Given the description of an element on the screen output the (x, y) to click on. 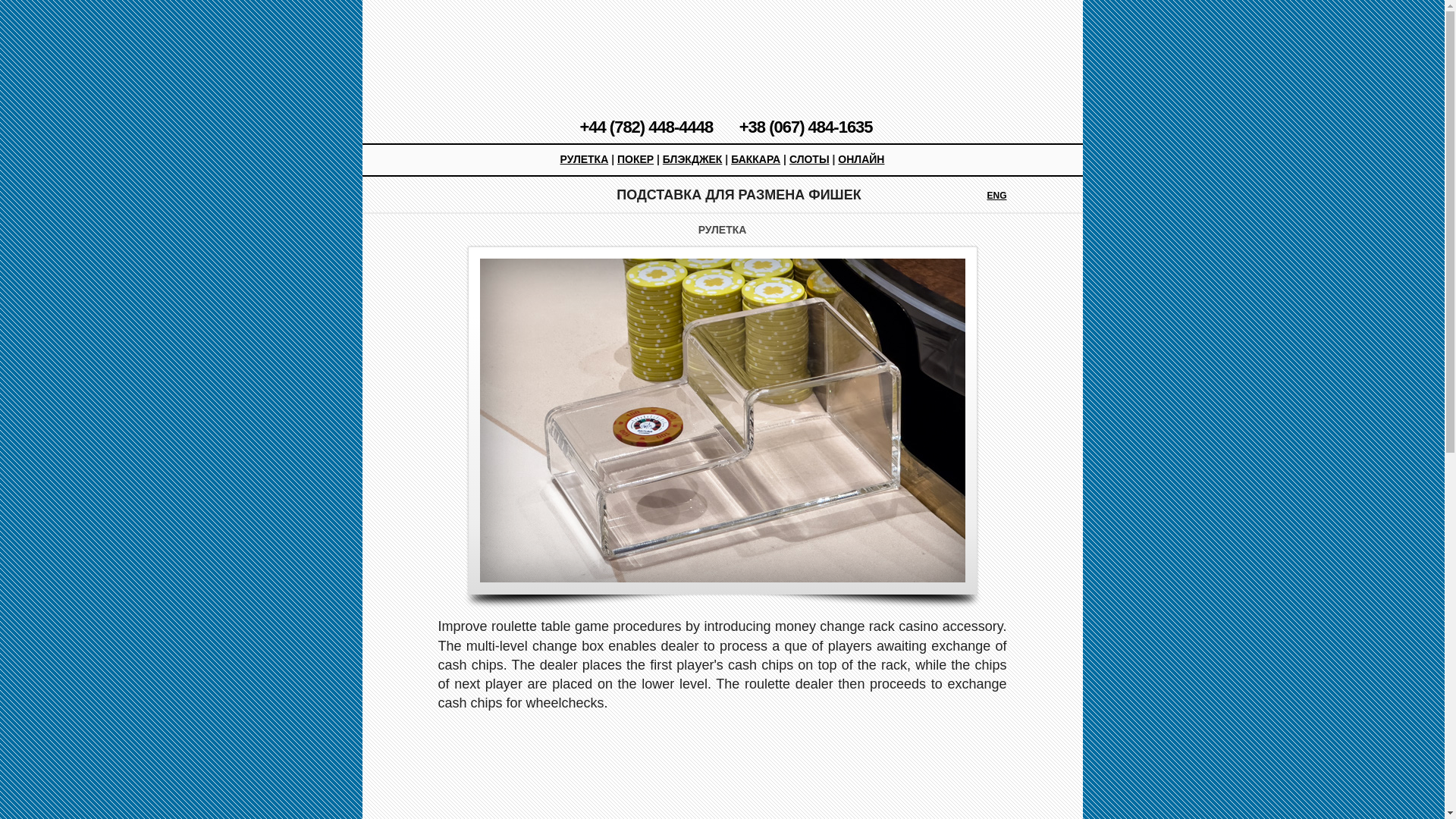
ENG (1034, 193)
